Given the description of an element on the screen output the (x, y) to click on. 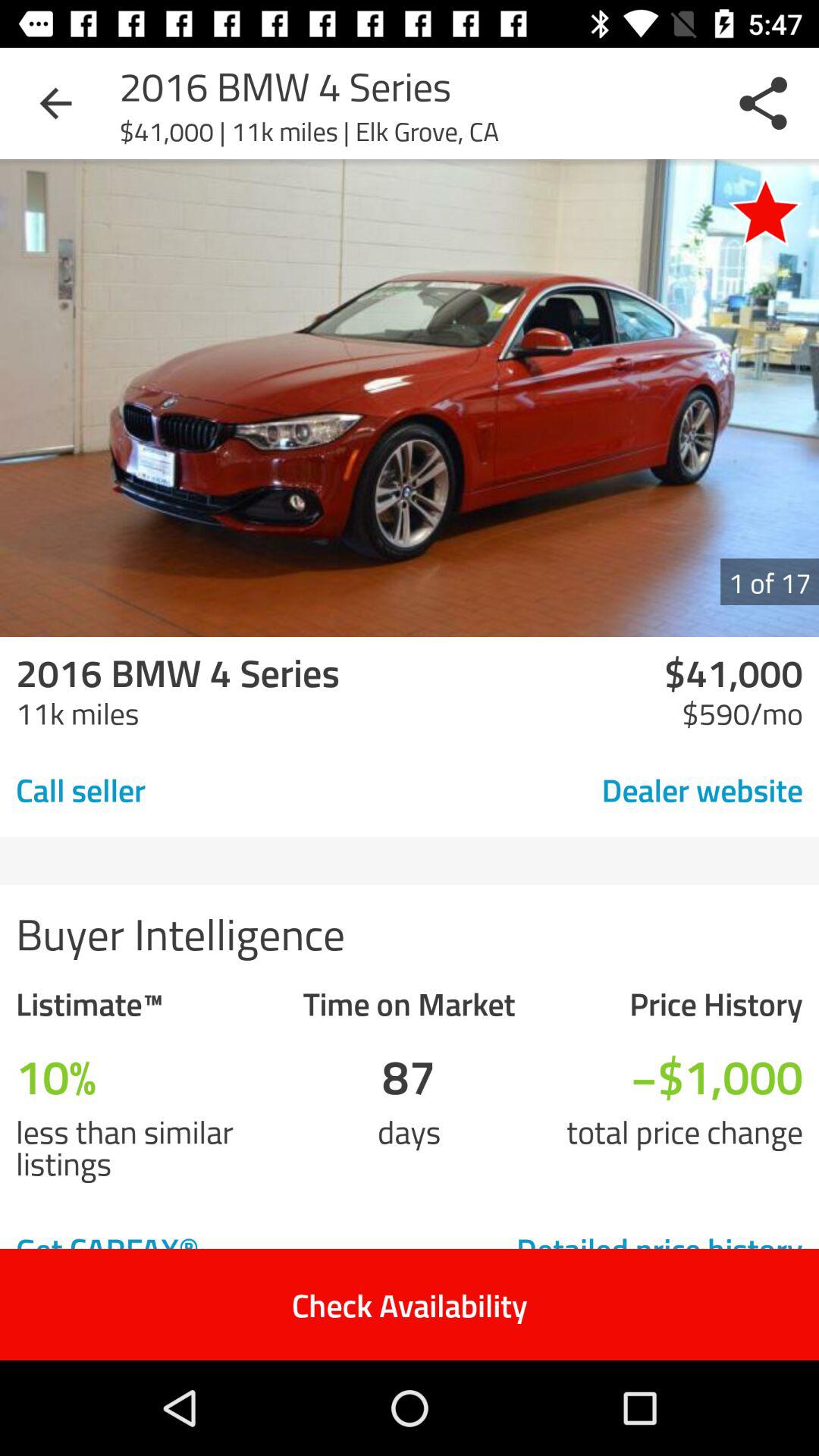
turn off item below 11k miles icon (186, 789)
